Given the description of an element on the screen output the (x, y) to click on. 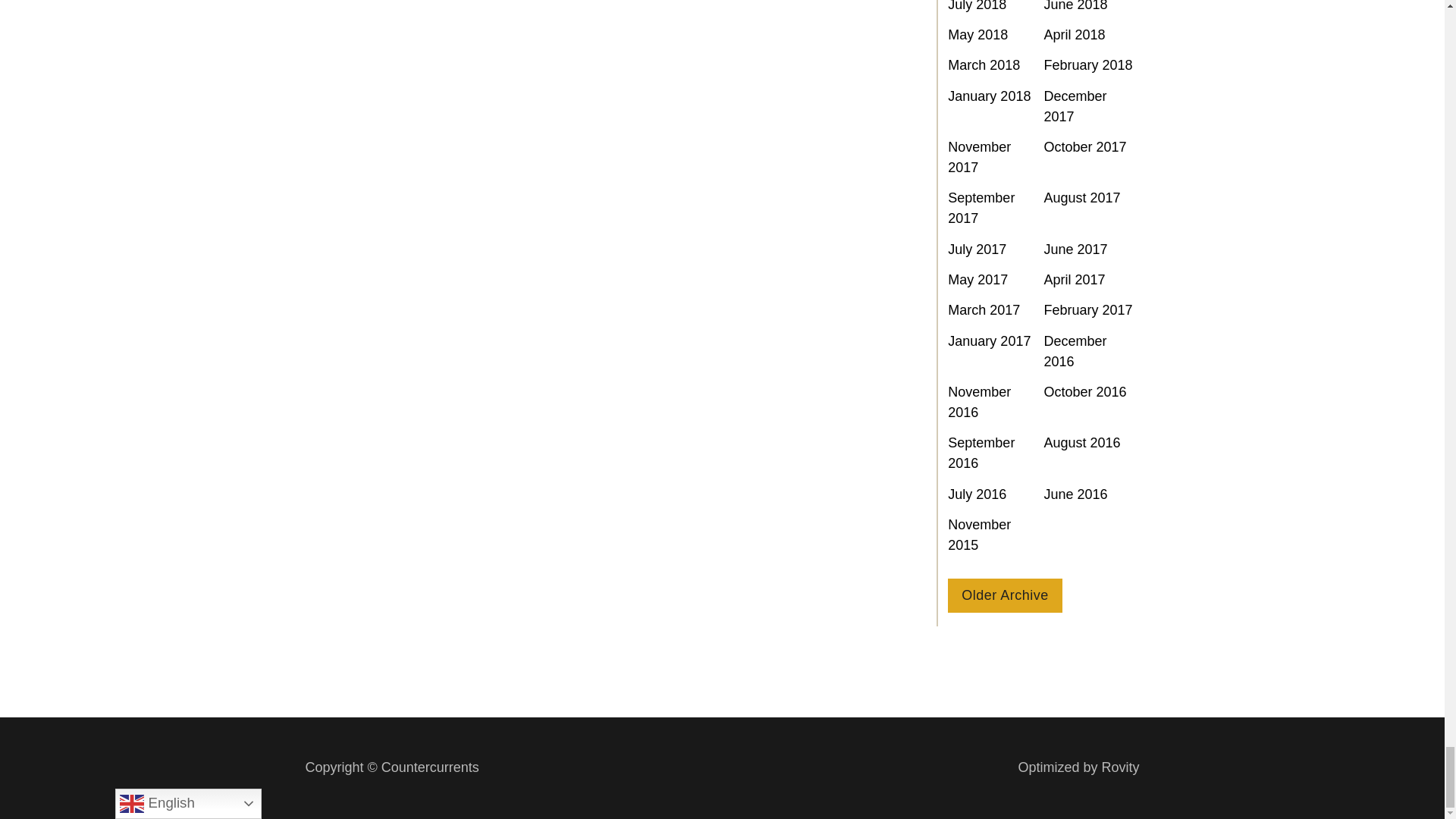
Rovity (1077, 767)
